Given the description of an element on the screen output the (x, y) to click on. 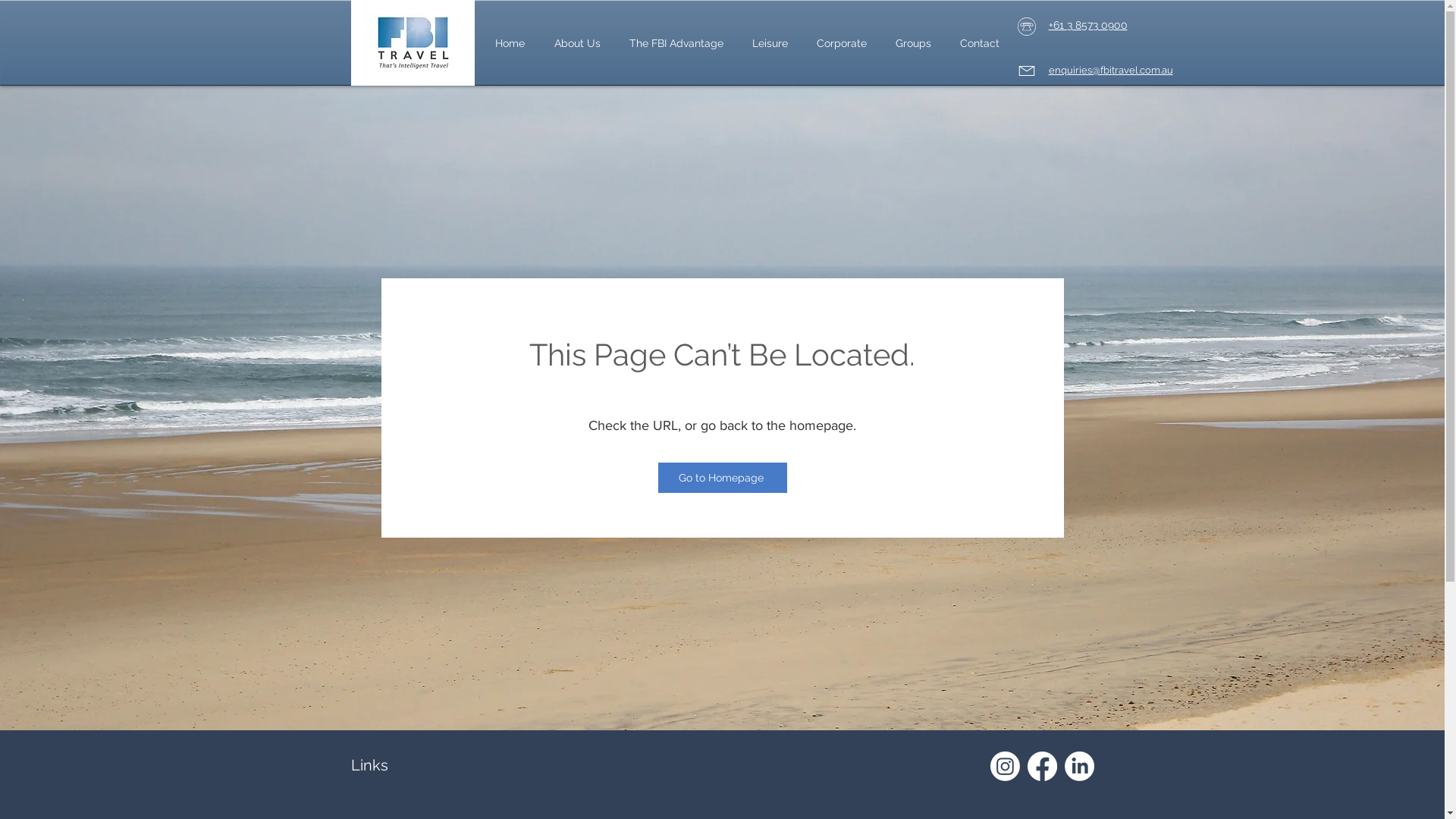
Corporate Element type: text (841, 43)
enquiries@fbitravel.com.au Element type: text (1110, 71)
Home Element type: text (509, 43)
The FBI Advantage Element type: text (675, 43)
Go to Homepage Element type: text (722, 477)
+61 3 8573 0900 Element type: text (1087, 24)
Groups Element type: text (913, 43)
Leisure Element type: text (769, 43)
Contact Element type: text (978, 43)
About Us Element type: text (577, 43)
